Given the description of an element on the screen output the (x, y) to click on. 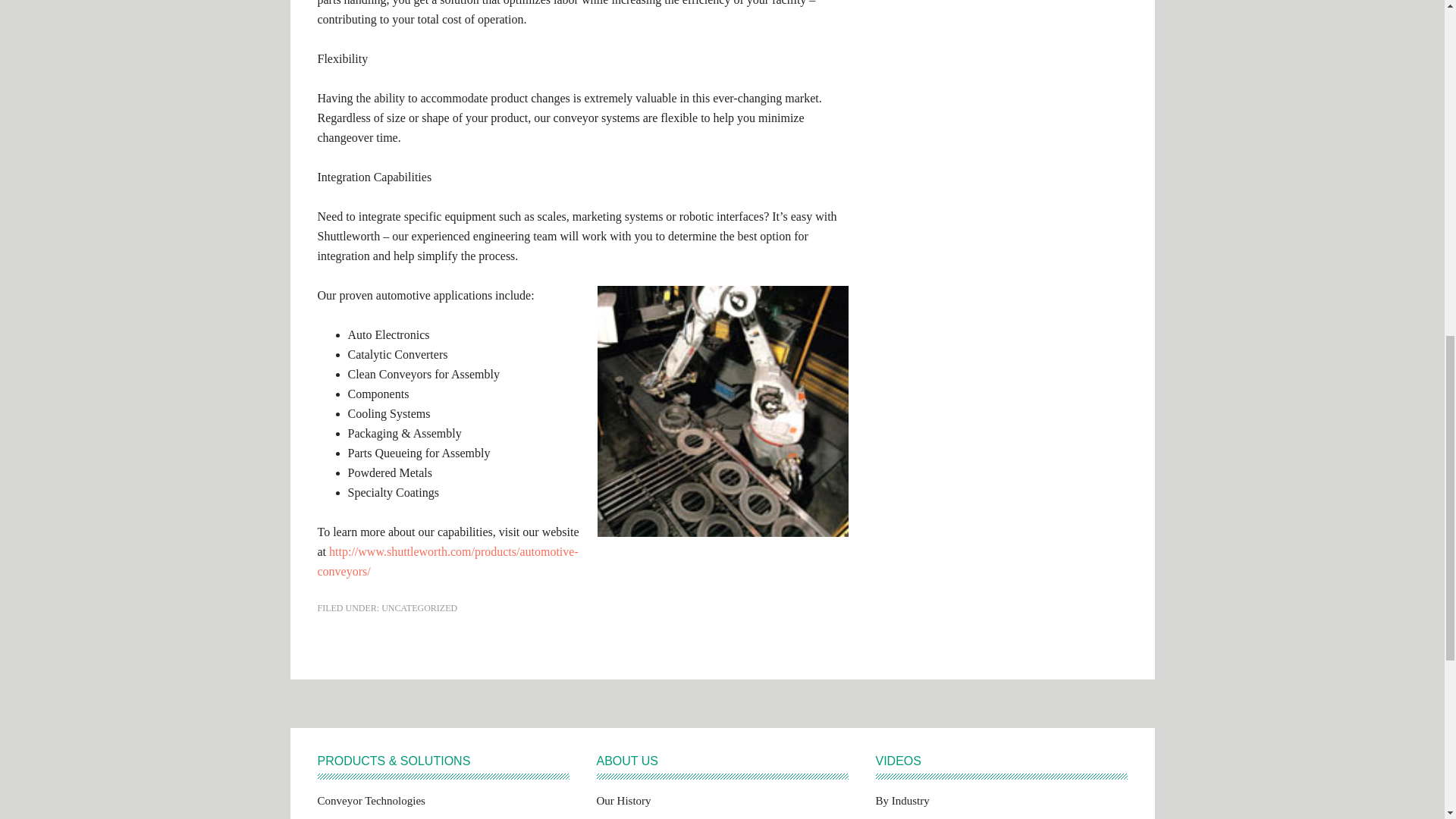
UNCATEGORIZED (419, 607)
Conveyor Technologies (371, 804)
Associations (624, 818)
Our History (622, 804)
By Industry (901, 804)
By Application (909, 818)
